Given the description of an element on the screen output the (x, y) to click on. 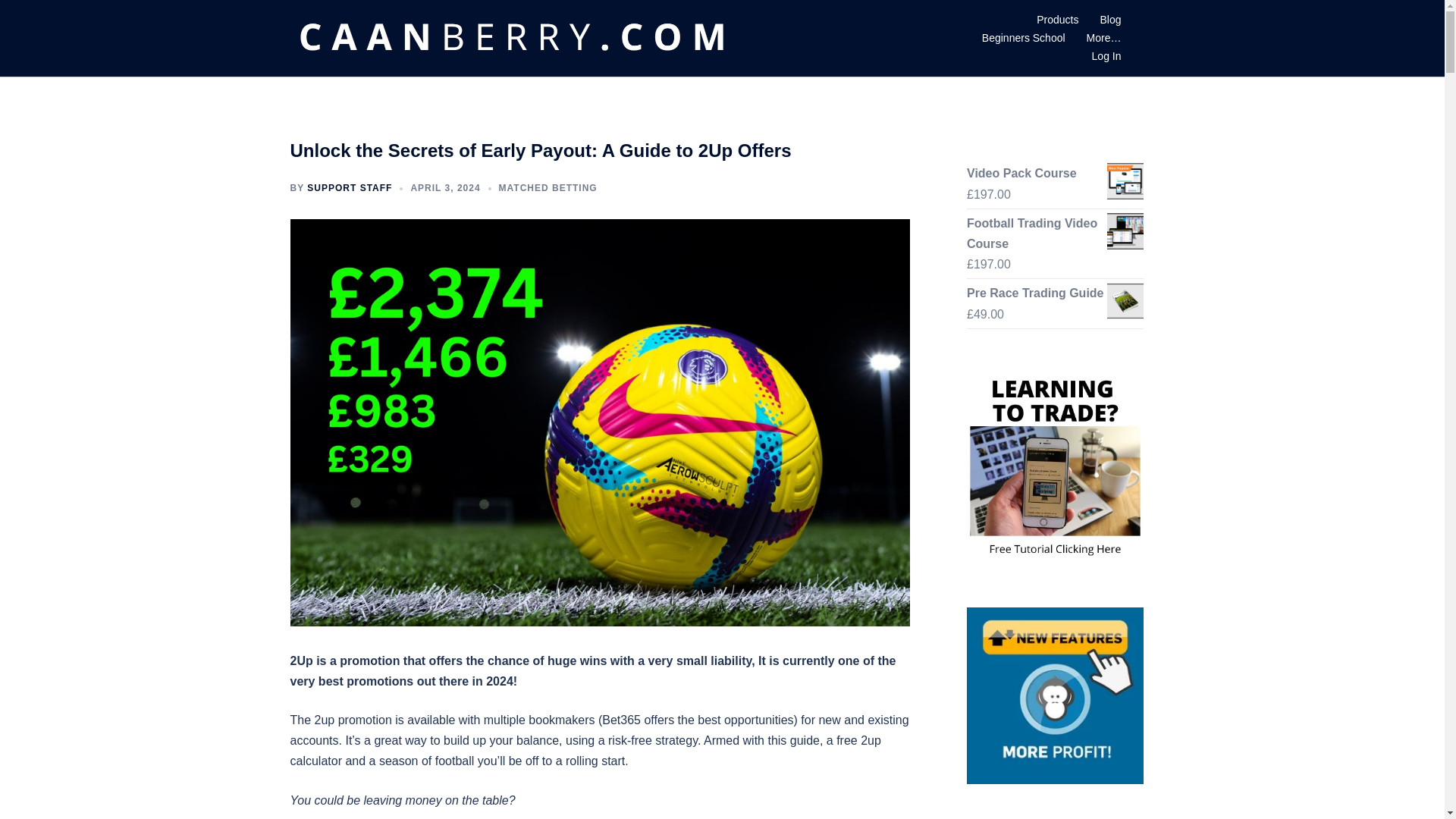
Products (1057, 20)
Beginners School (1023, 38)
Blog (1110, 20)
Log In (1106, 56)
